Given the description of an element on the screen output the (x, y) to click on. 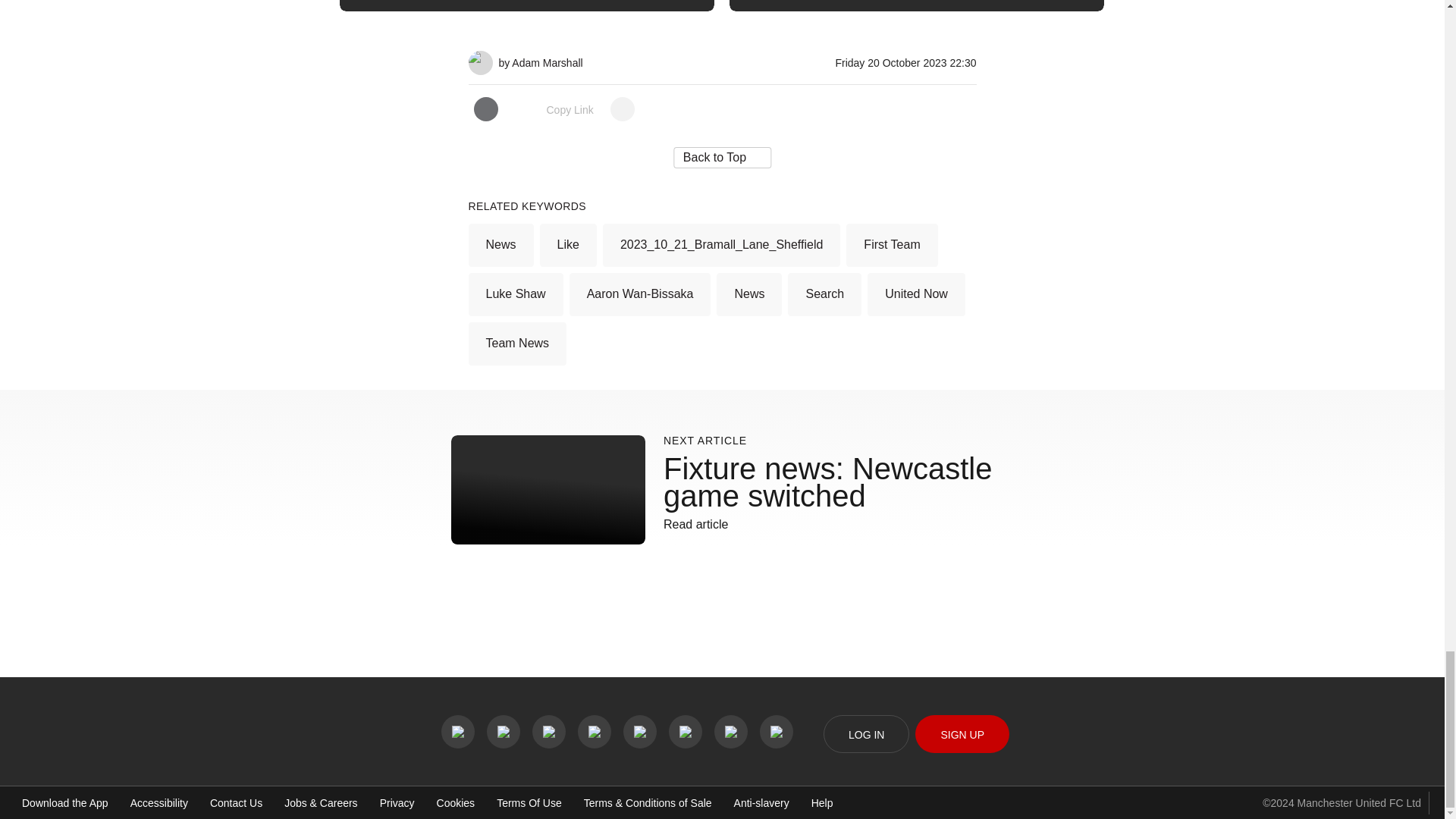
ManUtd.com reporter Adam Marshall at Old Trafford. (480, 56)
